Given the description of an element on the screen output the (x, y) to click on. 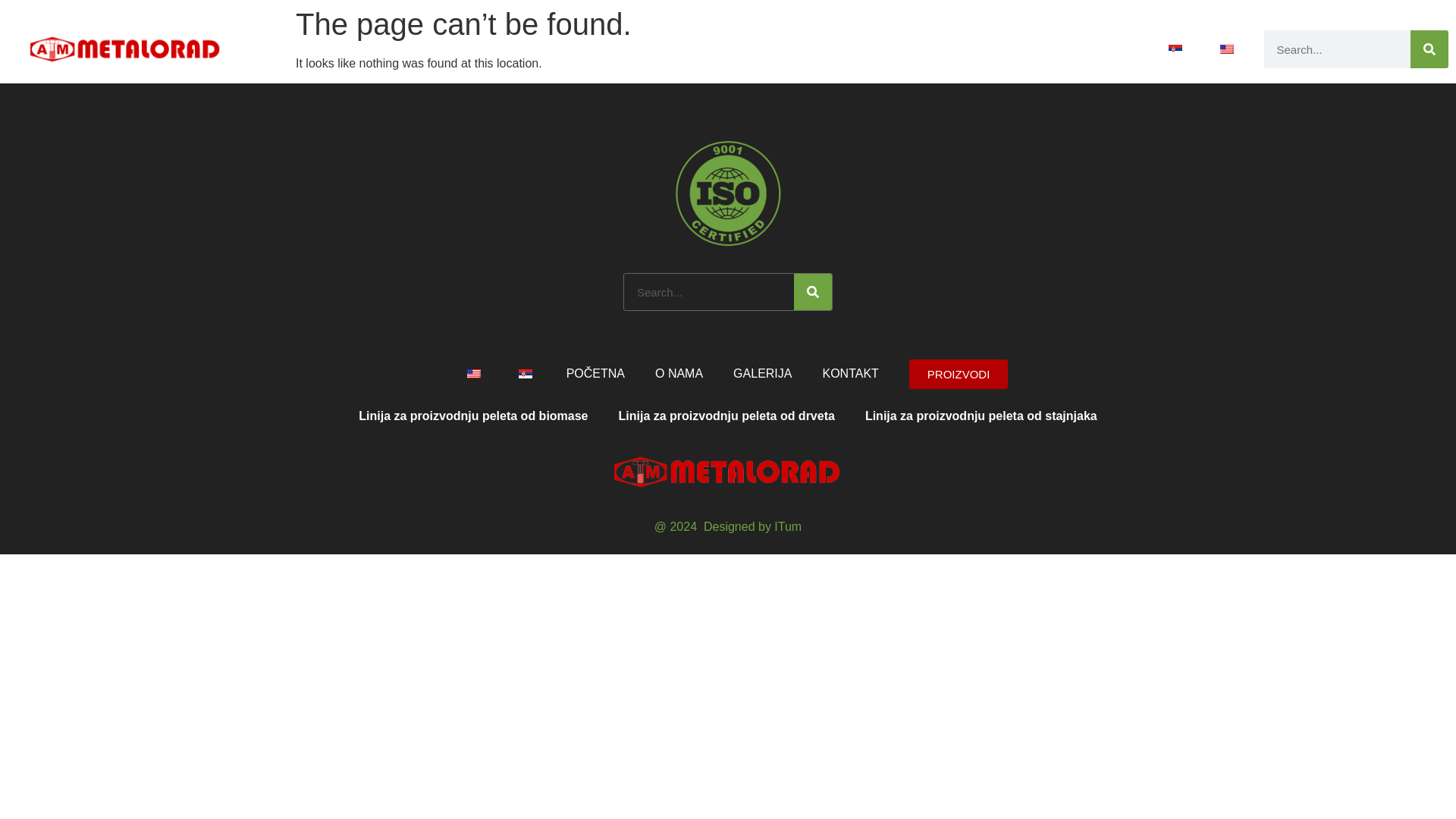
English (1226, 49)
Proizvodi (946, 49)
English (473, 373)
Galerija (1036, 49)
Serbian (525, 373)
Serbian (1175, 49)
O nama (857, 49)
Kontakt (1111, 49)
